Given the description of an element on the screen output the (x, y) to click on. 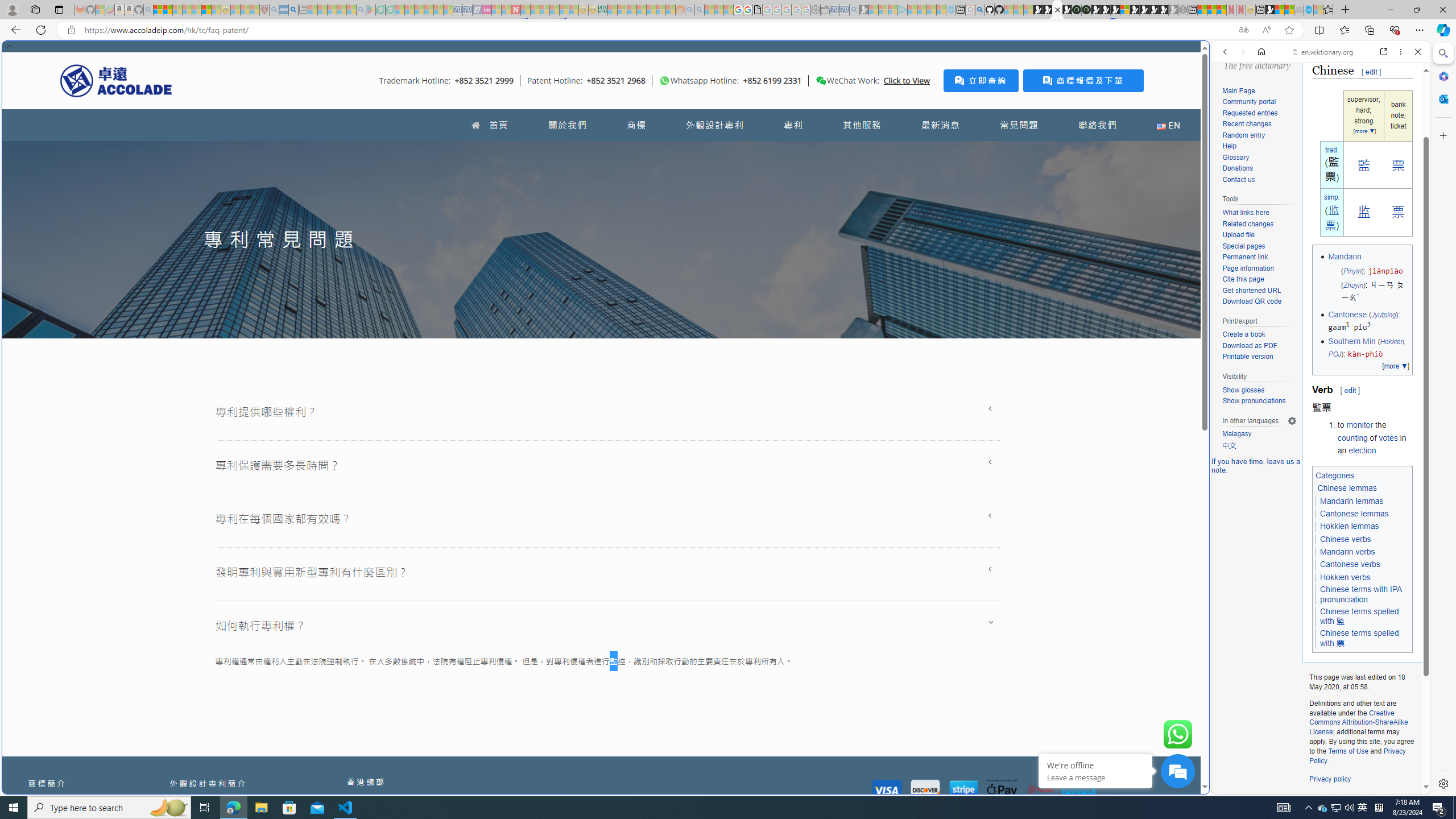
to monitor the counting of votes in an election (1374, 437)
Future Focus Report 2024 (1085, 9)
POJ (1333, 354)
Create a book (1243, 334)
Cantonese (Jyutping): gaam1 piu3 (1368, 320)
Upload file (1259, 235)
Bluey: Let's Play! - Apps on Google Play - Sleeping (370, 9)
